Given the description of an element on the screen output the (x, y) to click on. 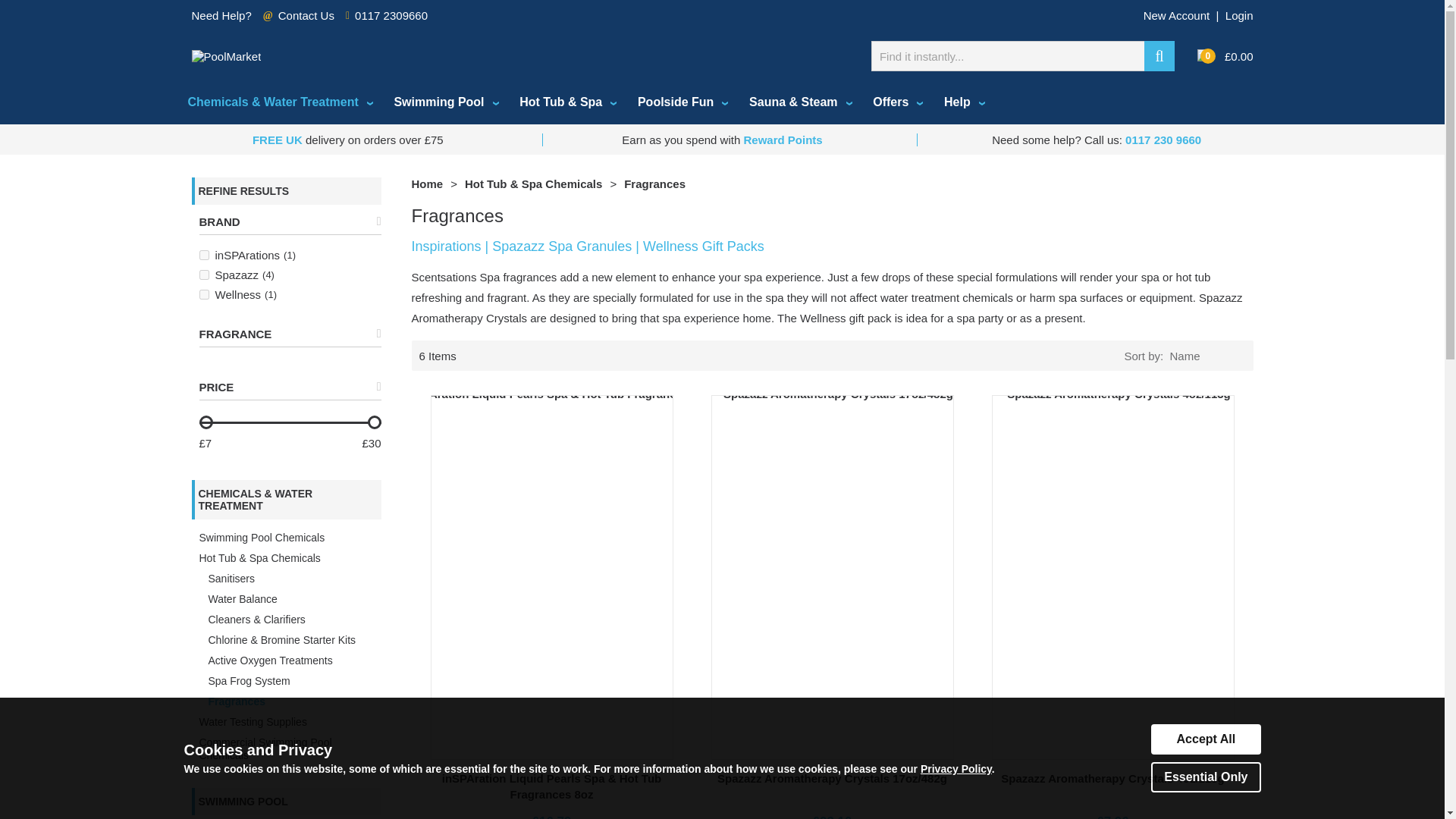
Contact Us (306, 15)
1 (203, 255)
Maximise (281, 333)
30 (289, 422)
7 (289, 422)
1 (203, 275)
Login (1239, 15)
0 (1202, 56)
1 (203, 294)
Go (1159, 55)
Minimise (281, 386)
0117 2309660 (391, 15)
New Account (1175, 15)
Minimise (281, 221)
Swimming Pool (444, 102)
